Given the description of an element on the screen output the (x, y) to click on. 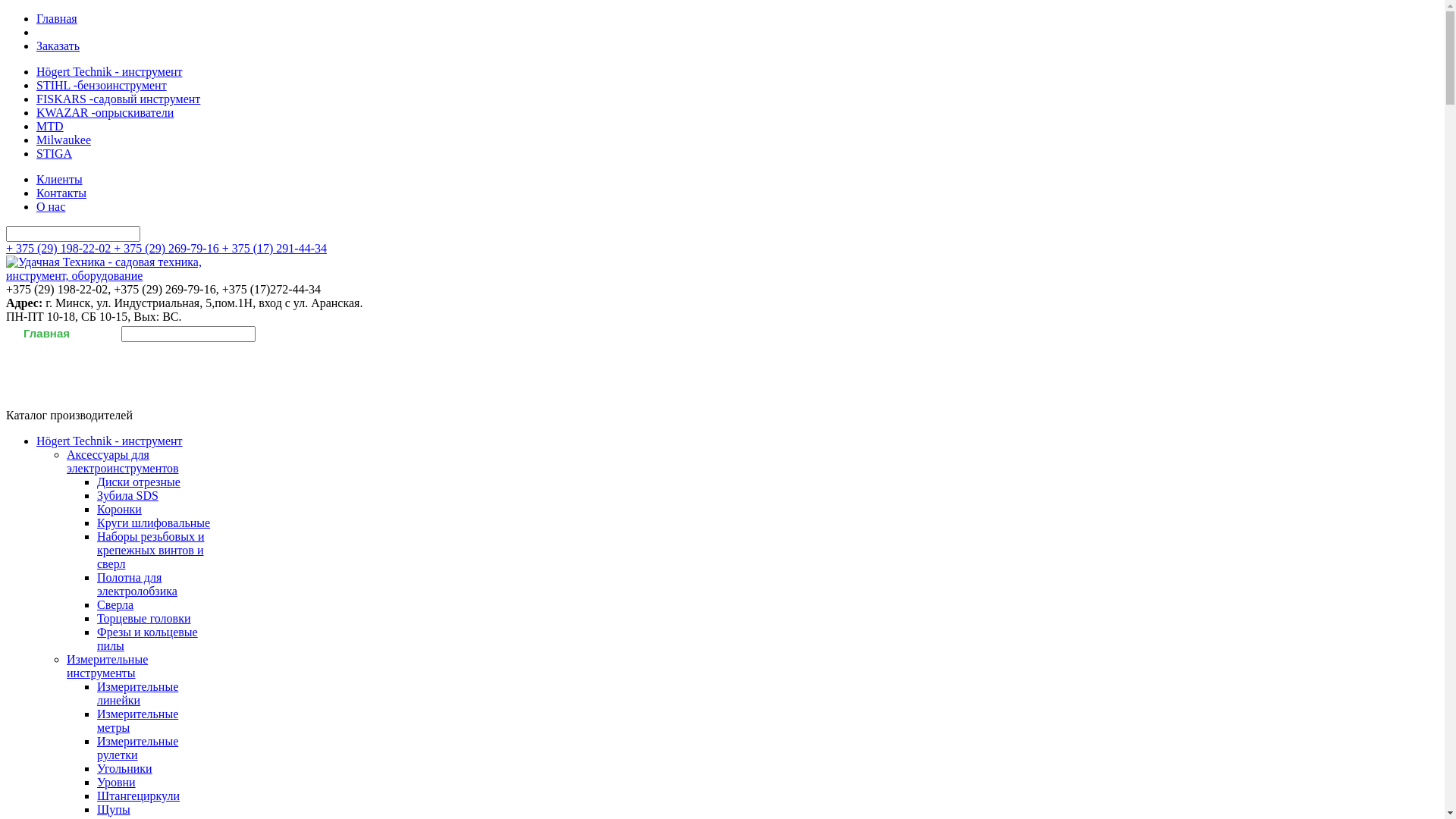
MTD Element type: text (49, 125)
STIGA Element type: text (54, 153)
+ 375 (29) 198-22-02 Element type: text (59, 247)
+ 375 (29) 269-79-16 Element type: text (167, 247)
+ 375 (17) 291-44-34 Element type: text (274, 247)
Milwaukee Element type: text (63, 139)
